Given the description of an element on the screen output the (x, y) to click on. 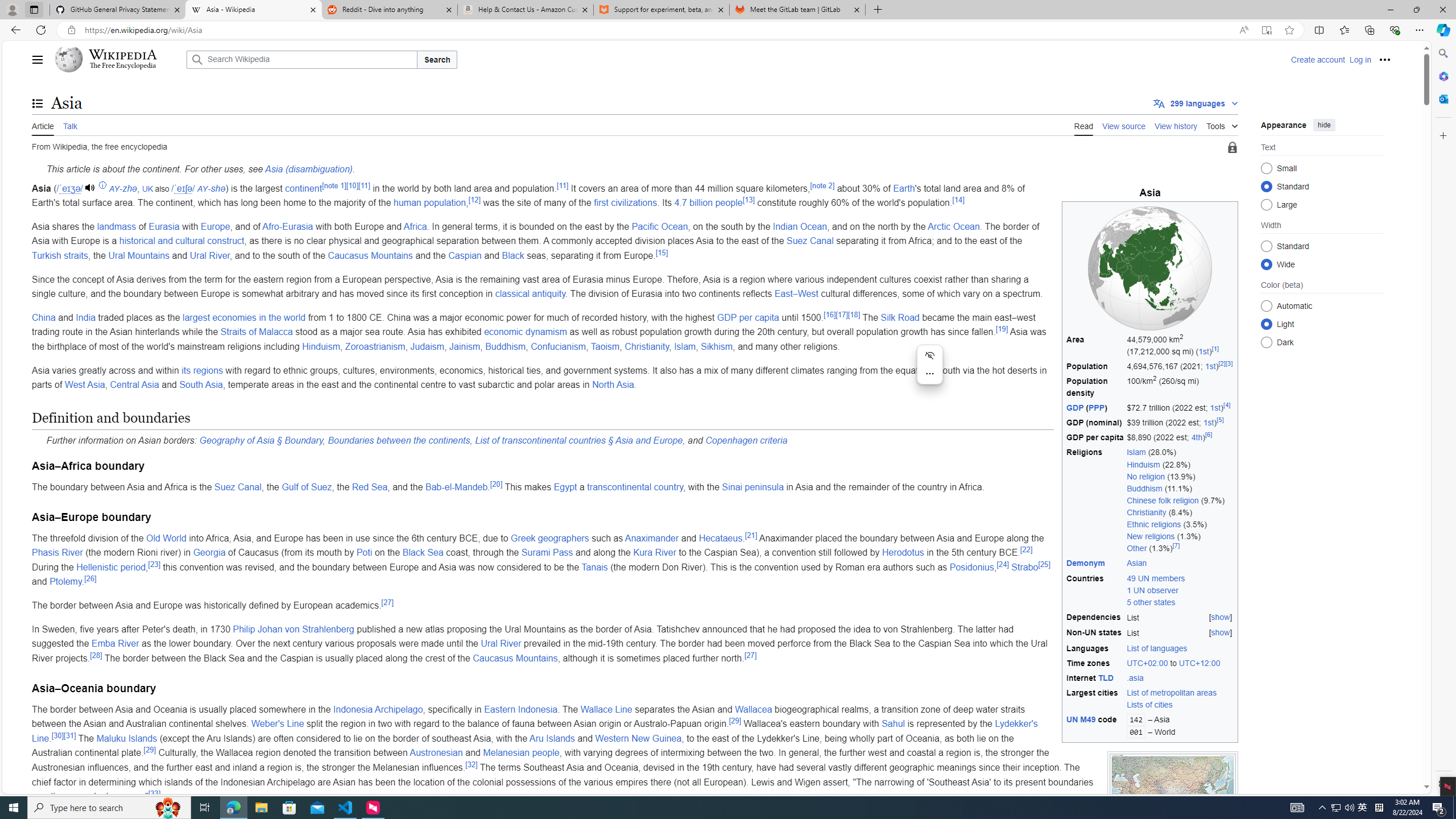
UN M49 code (1095, 725)
No religion (13.9%) (1180, 476)
Kura River (655, 552)
GitHub General Privacy Statement - GitHub Docs (117, 9)
Weber's Line (277, 723)
Wikipedia (122, 54)
Eurasia (163, 226)
Copenhagen criteria (745, 439)
Jainism (464, 346)
49 UN members 1 UN observer 5 other states (1155, 589)
GDP (PPP) (1095, 408)
Dark (1266, 341)
Non-UN states (1095, 633)
